Given the description of an element on the screen output the (x, y) to click on. 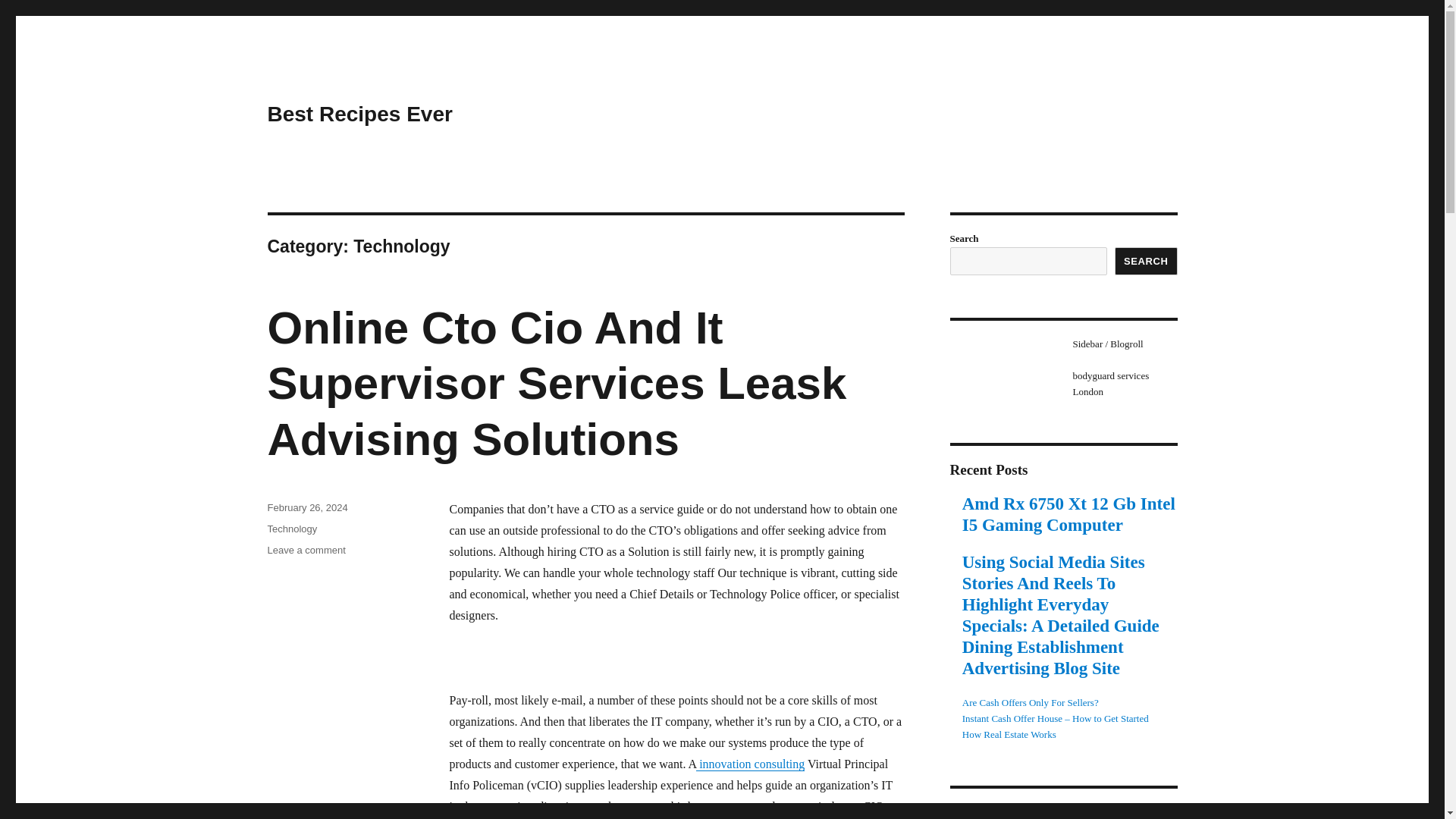
SEARCH (1146, 261)
February 26, 2024 (306, 507)
Amd Rx 6750 Xt 12 Gb Intel I5 Gaming Computer (1069, 514)
innovation consulting (750, 763)
How Real Estate Works (1009, 734)
Technology (291, 528)
Are Cash Offers Only For Sellers? (305, 550)
